Given the description of an element on the screen output the (x, y) to click on. 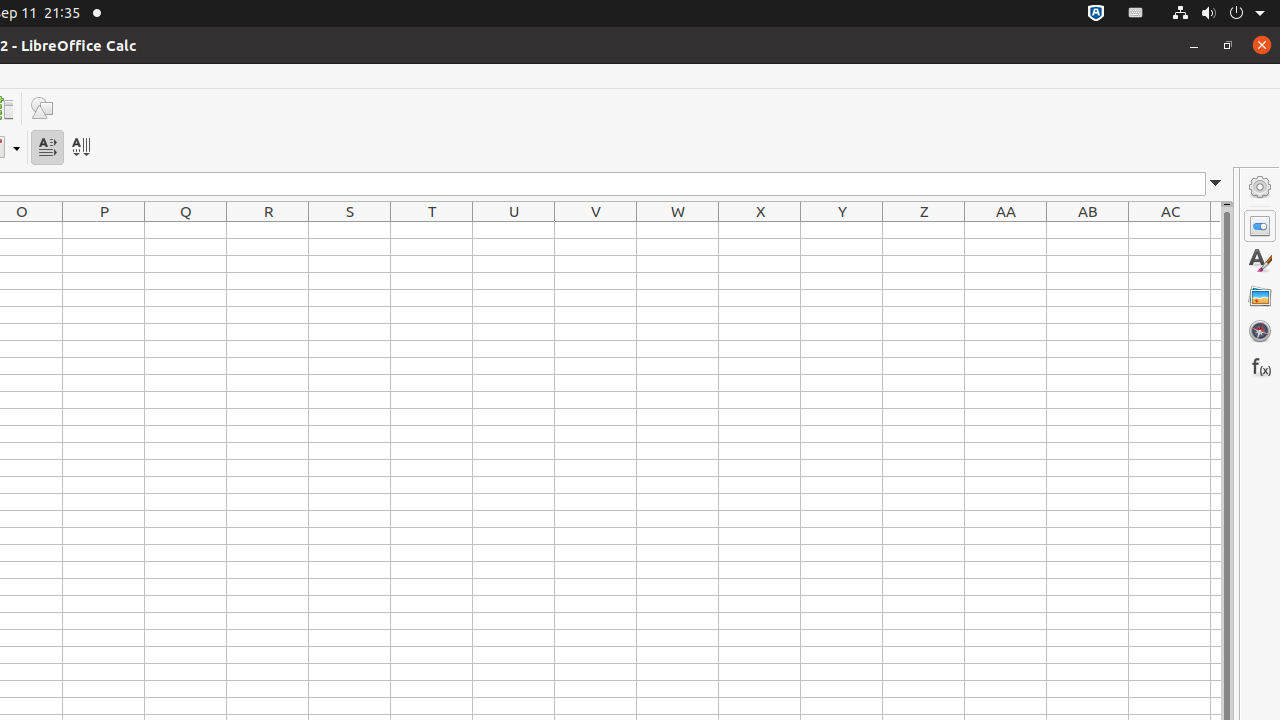
U1 Element type: table-cell (514, 230)
V1 Element type: table-cell (596, 230)
Navigator Element type: radio-button (1260, 331)
R1 Element type: table-cell (268, 230)
Properties Element type: radio-button (1260, 226)
